Given the description of an element on the screen output the (x, y) to click on. 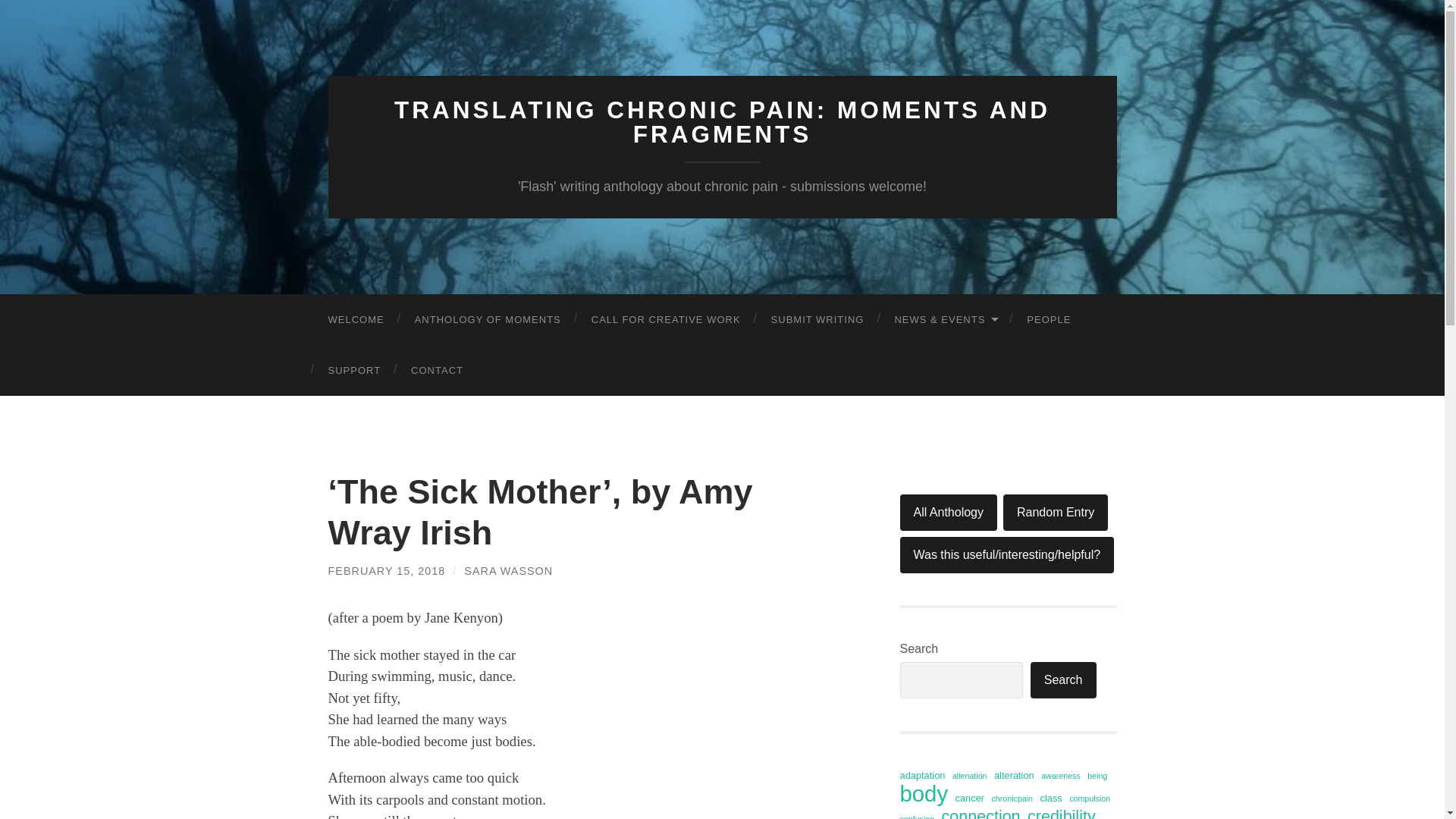
ANTHOLOGY OF MOMENTS (487, 319)
WELCOME (355, 319)
SUBMIT WRITING (817, 319)
Random Entry (1055, 512)
SUPPORT (354, 368)
PEOPLE (1048, 319)
SARA WASSON (508, 570)
CONTACT (437, 368)
Search (1063, 679)
CALL FOR CREATIVE WORK (665, 319)
FEBRUARY 15, 2018 (386, 570)
TRANSLATING CHRONIC PAIN: MOMENTS AND FRAGMENTS (721, 122)
All Anthology (948, 512)
Posts by Sara Wasson (508, 570)
